Given the description of an element on the screen output the (x, y) to click on. 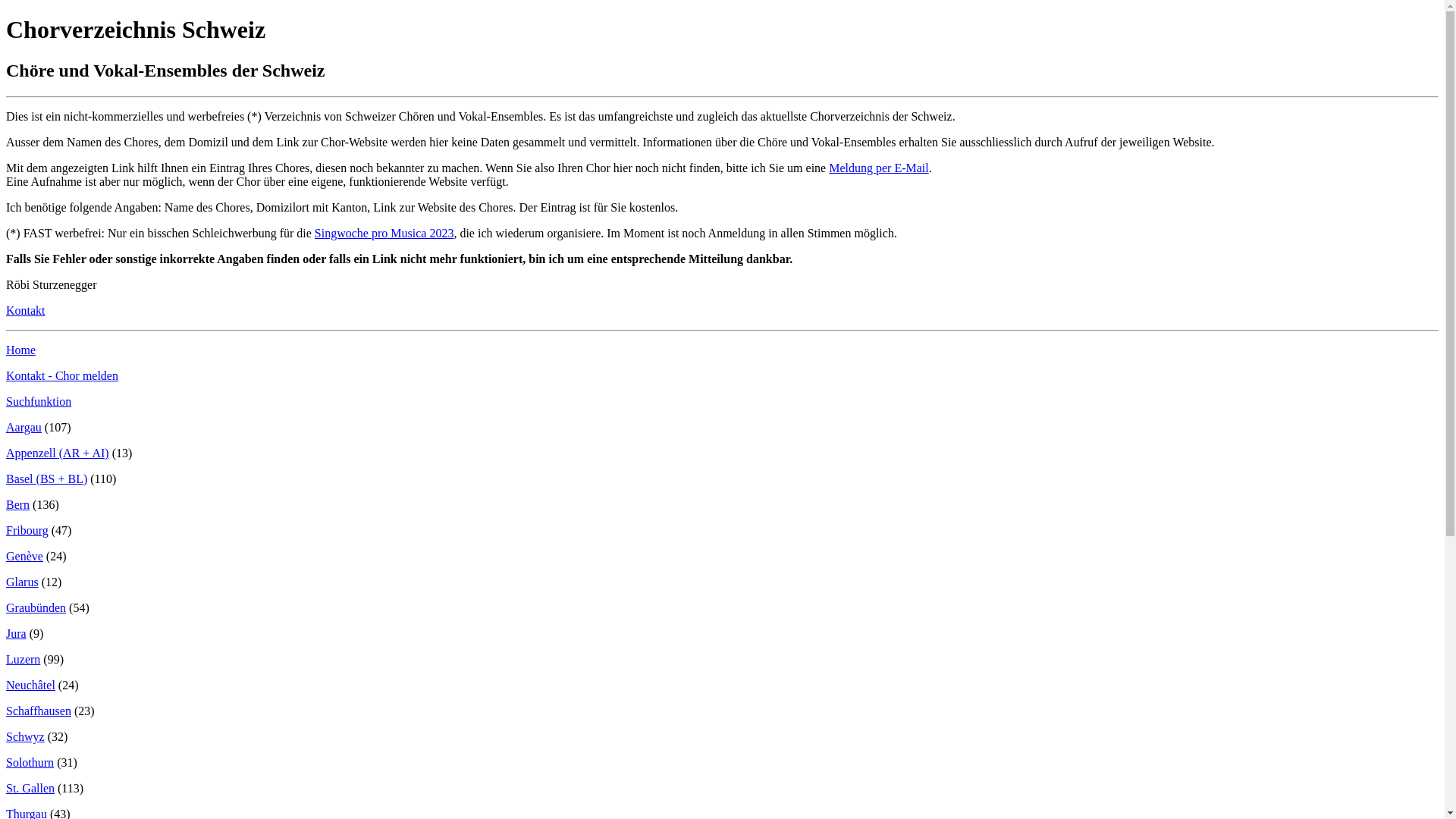
Kontakt Element type: text (25, 310)
Suchfunktion Element type: text (38, 401)
Bern Element type: text (17, 504)
Luzern Element type: text (23, 658)
Schaffhausen Element type: text (38, 710)
St. Gallen Element type: text (30, 787)
Fribourg Element type: text (27, 530)
Basel (BS + BL) Element type: text (46, 478)
Kontakt - Chor melden Element type: text (62, 375)
Glarus Element type: text (22, 581)
Meldung per E-Mail Element type: text (878, 167)
Aargau Element type: text (23, 426)
Appenzell (AR + AI) Element type: text (57, 452)
Singwoche pro Musica 2023 Element type: text (384, 232)
Jura Element type: text (16, 633)
Solothurn Element type: text (29, 762)
Home Element type: text (20, 349)
Schwyz Element type: text (25, 736)
